Given the description of an element on the screen output the (x, y) to click on. 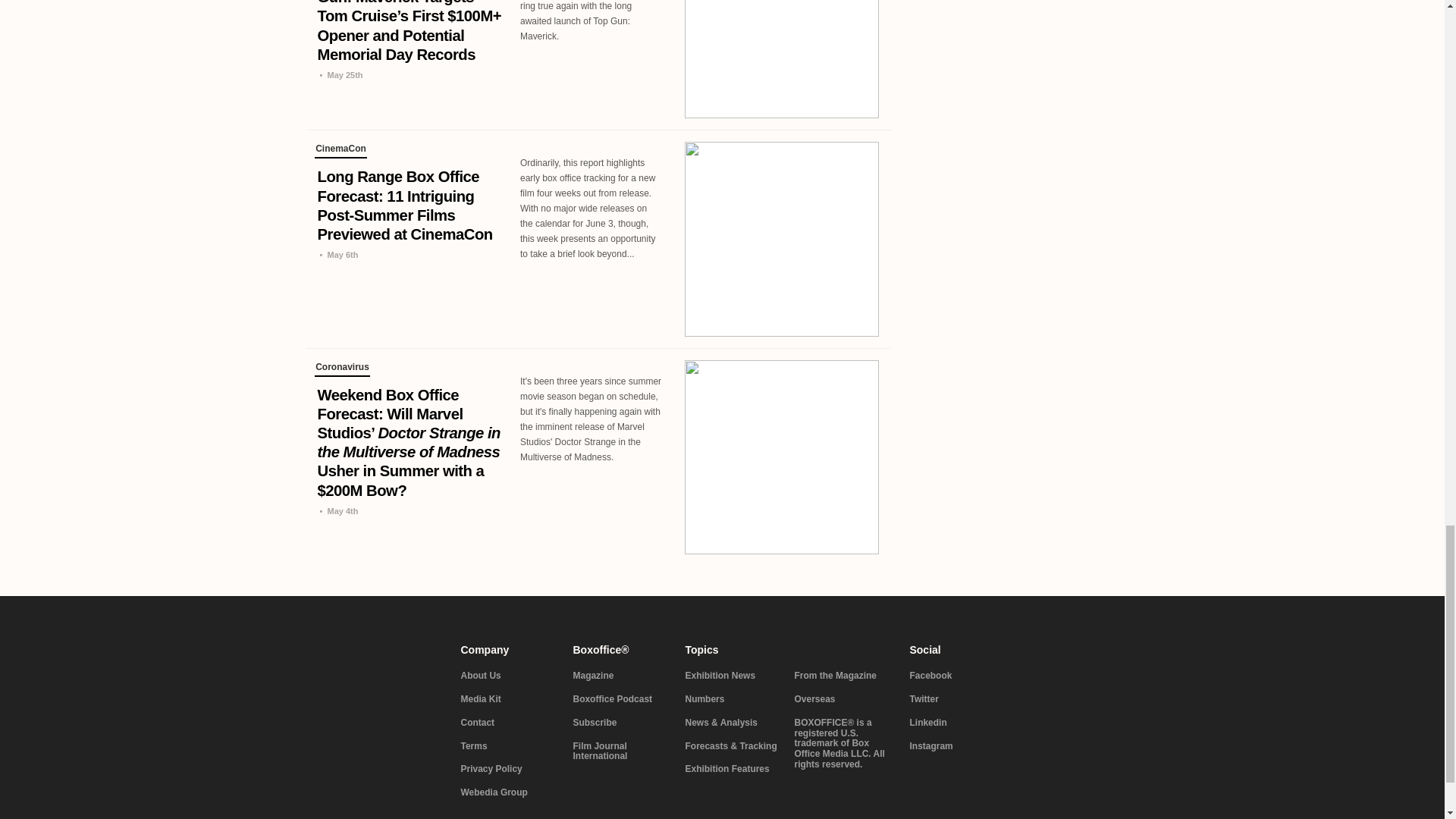
Privacy Policy (508, 769)
CinemaCon (340, 150)
Media Kit (508, 699)
Webedia Group (508, 792)
Coronavirus (341, 368)
Company (508, 649)
Contact (508, 723)
About Us (508, 675)
Terms (508, 747)
